Given the description of an element on the screen output the (x, y) to click on. 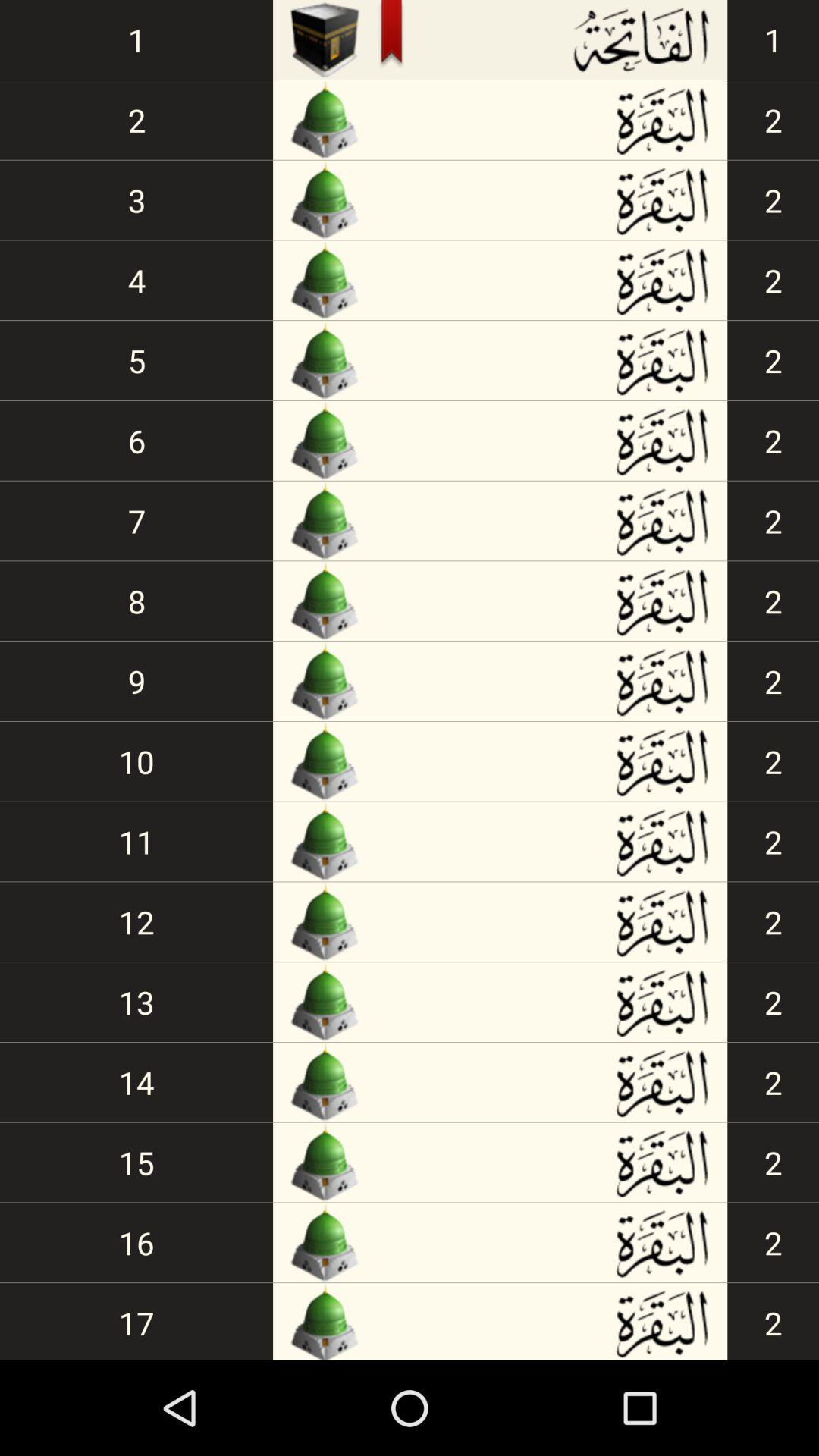
scroll to the 3 icon (136, 200)
